Given the description of an element on the screen output the (x, y) to click on. 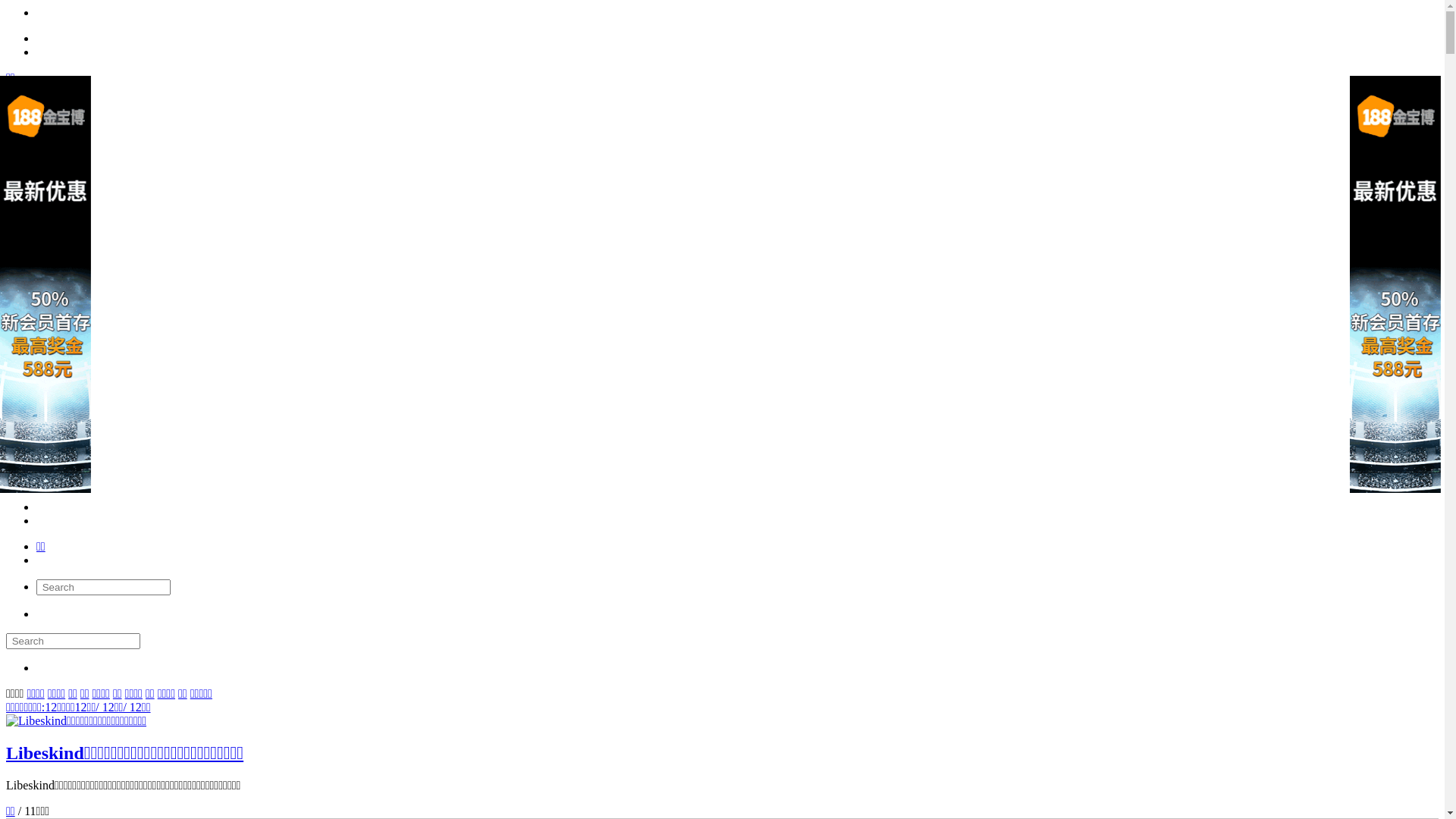
Search Element type: hover (103, 587)
Search Element type: hover (73, 641)
